Given the description of an element on the screen output the (x, y) to click on. 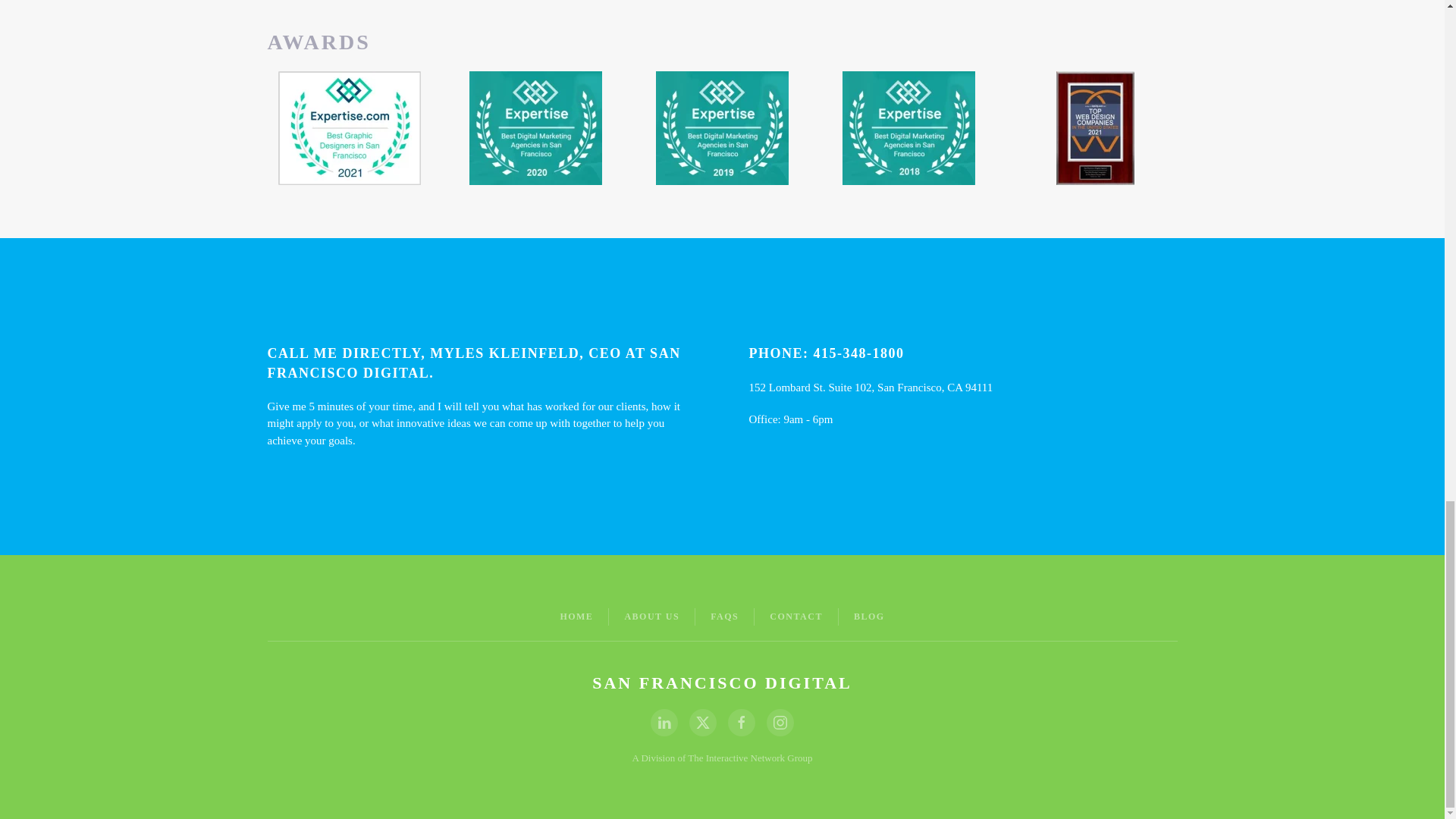
ABOUT US (651, 616)
HOME (575, 616)
FAQS (724, 616)
BLOG (869, 616)
CONTACT (796, 616)
